Given the description of an element on the screen output the (x, y) to click on. 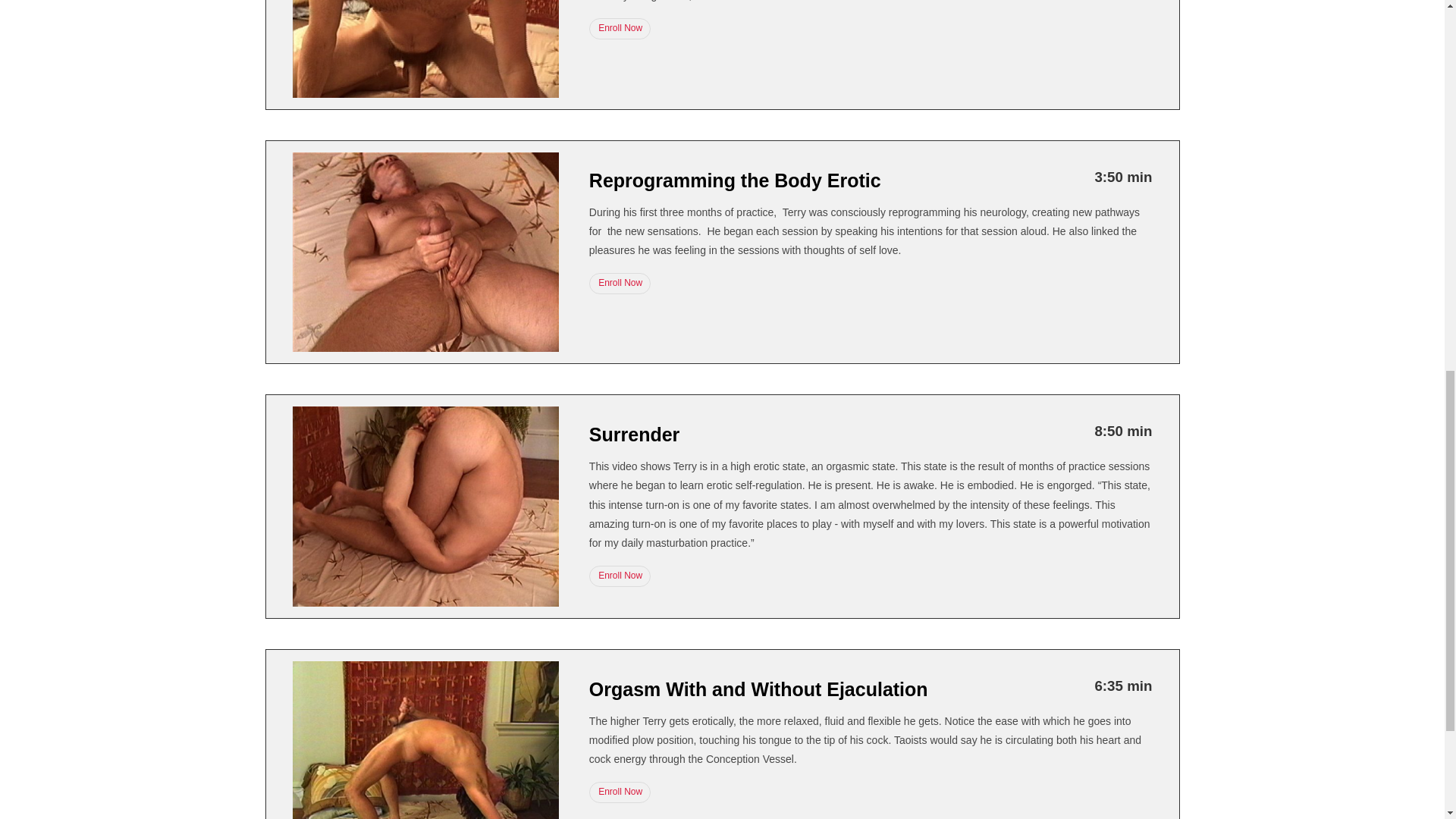
Reprogramming the Body Erotic (734, 179)
Orgasm With and Without Ejaculation (758, 689)
Surrender (634, 434)
